Given the description of an element on the screen output the (x, y) to click on. 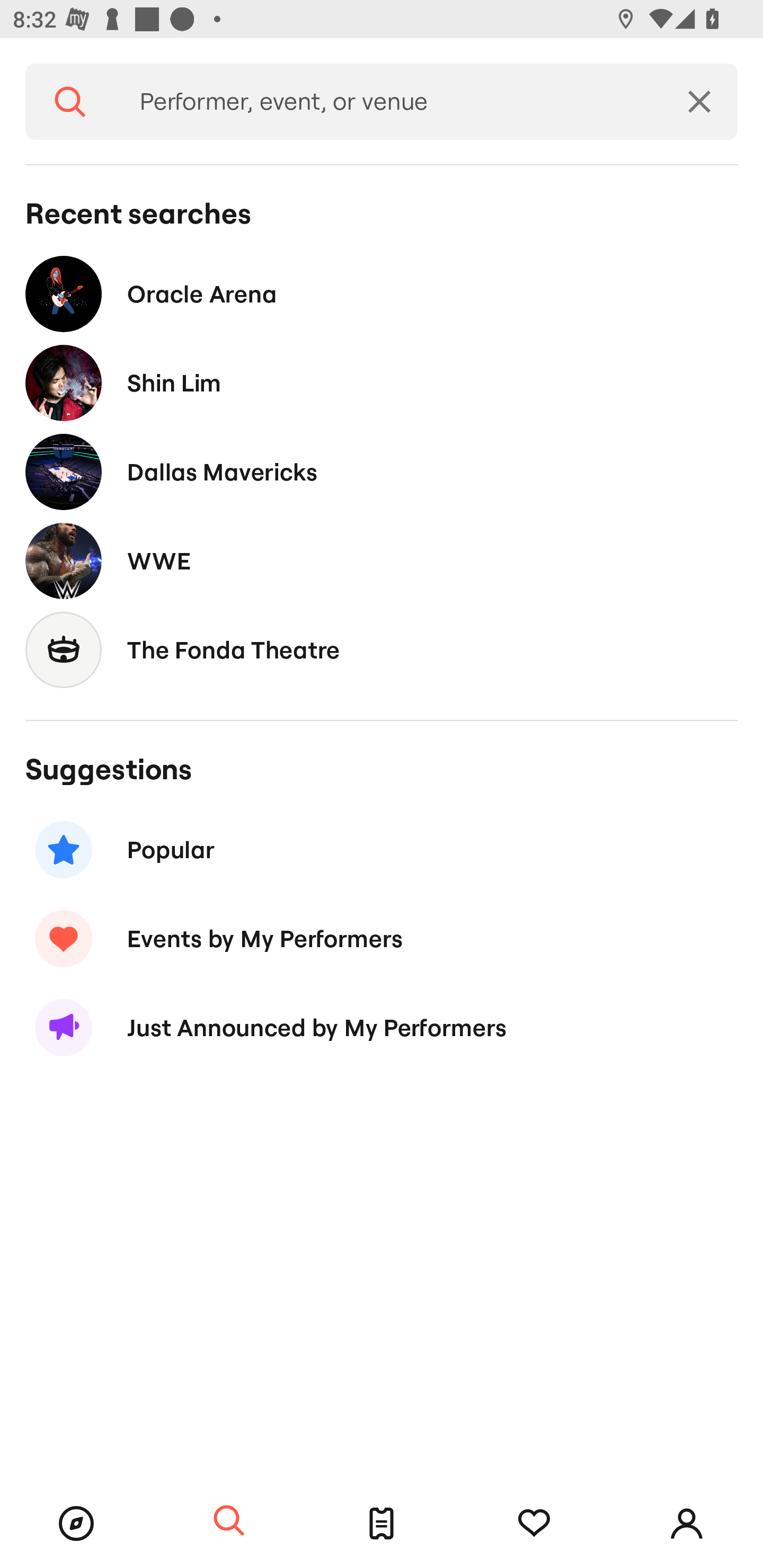
Search (69, 101)
Performer, event, or venue (387, 101)
Clear (699, 101)
Oracle Arena (381, 293)
Shin Lim (381, 383)
Dallas Mavericks (381, 471)
WWE (381, 560)
The Fonda Theatre (381, 649)
Popular (381, 849)
Events by My Performers (381, 938)
Just Announced by My Performers (381, 1027)
Browse (76, 1523)
Search (228, 1521)
Tickets (381, 1523)
Tracking (533, 1523)
Account (686, 1523)
